Given the description of an element on the screen output the (x, y) to click on. 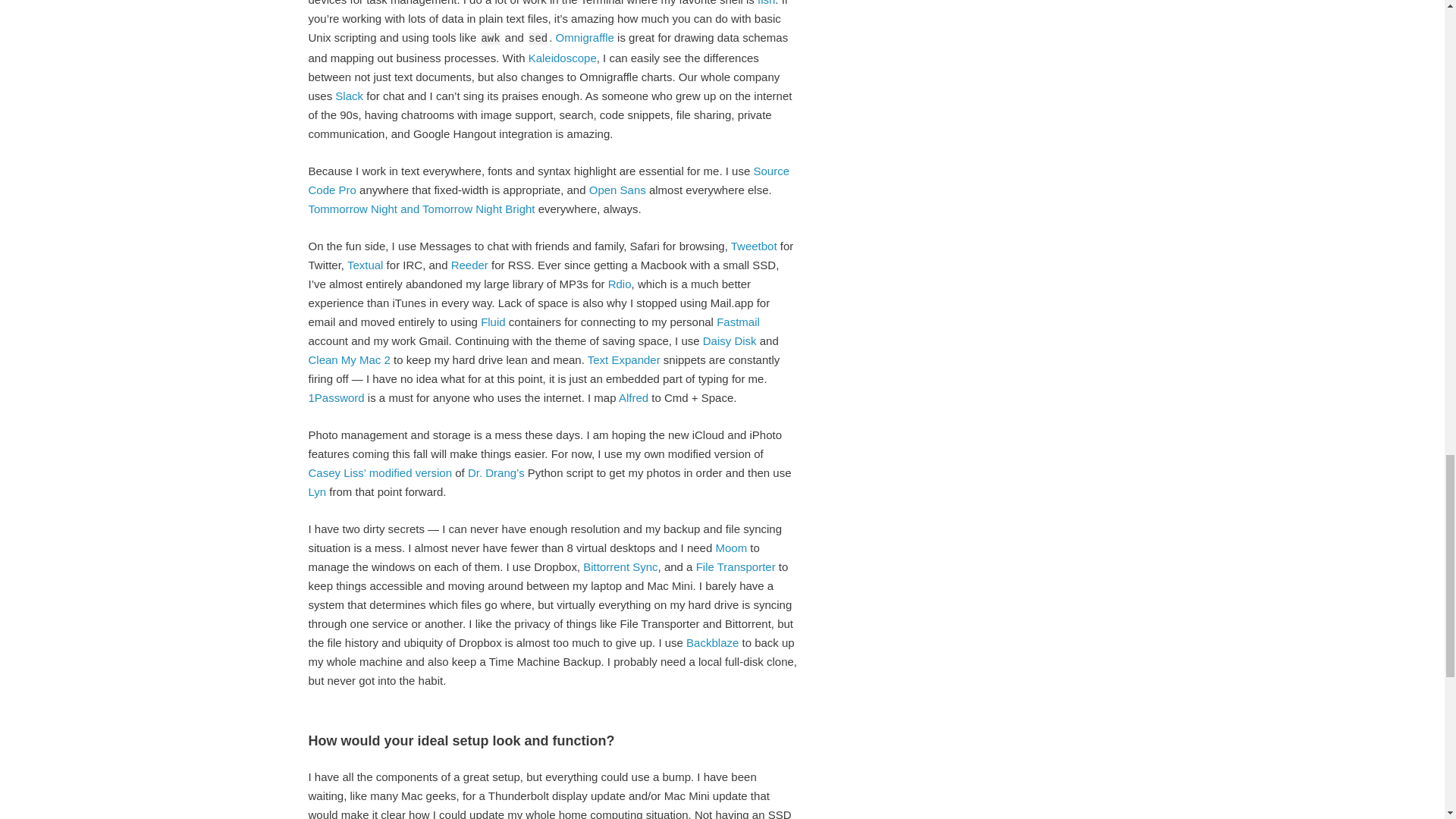
Slack (348, 95)
Open Sans (617, 189)
Tweetbot (753, 245)
Reeder (469, 264)
Tommorrow Night and Tomorrow Night Bright (420, 207)
fish (765, 2)
Textual (365, 264)
Source Code Pro (548, 179)
Kaleidoscope (562, 57)
Omnigraffle (585, 36)
